Given the description of an element on the screen output the (x, y) to click on. 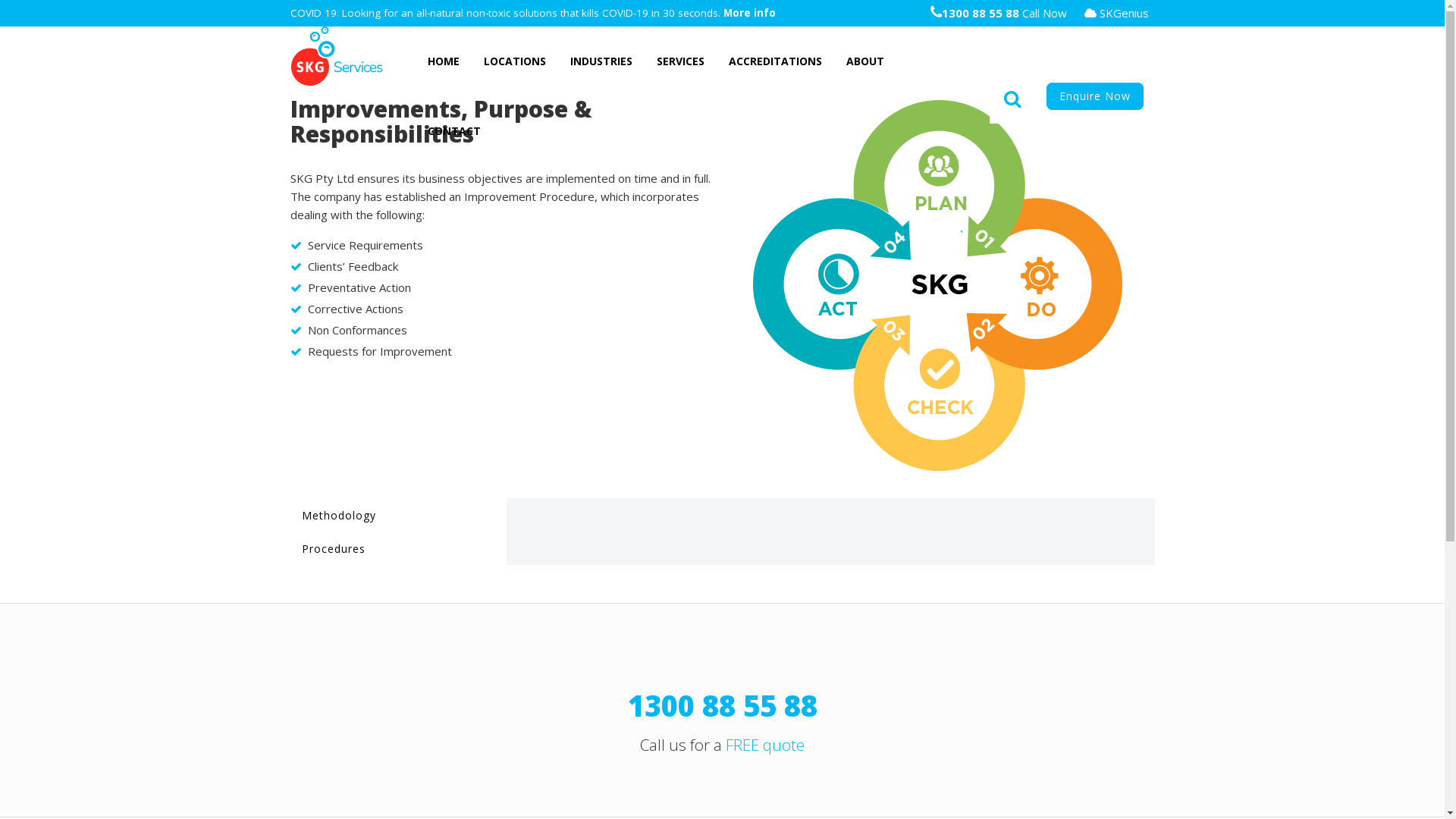
Enquire Now Element type: text (1094, 95)
ACCREDITATIONS Element type: text (774, 61)
More info Element type: text (749, 12)
how Element type: hover (935, 285)
Procedures Element type: text (397, 547)
1300 88 55 88 Call Now Element type: text (997, 12)
ABOUT Element type: text (865, 61)
Methodology Element type: text (397, 514)
CONTACT Element type: text (453, 131)
FREE quote Element type: text (764, 744)
INDUSTRIES Element type: text (601, 61)
LOCATIONS Element type: text (514, 61)
1300 88 55 88 Element type: text (722, 704)
SKGenius Element type: text (1115, 13)
SERVICES Element type: text (680, 61)
HOME Element type: text (443, 61)
